Given the description of an element on the screen output the (x, y) to click on. 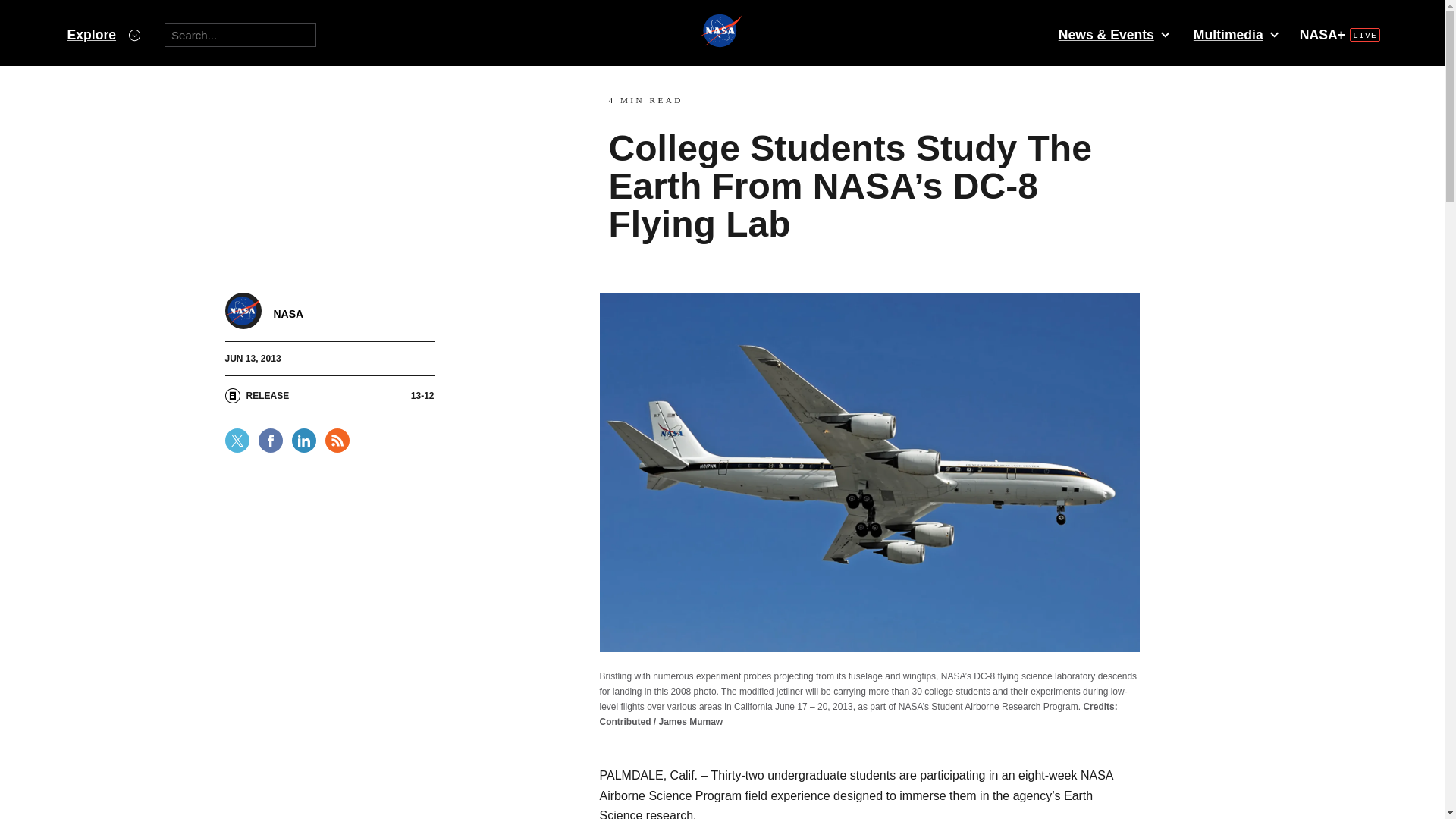
Multimedia (1235, 35)
Explore (103, 35)
